Given the description of an element on the screen output the (x, y) to click on. 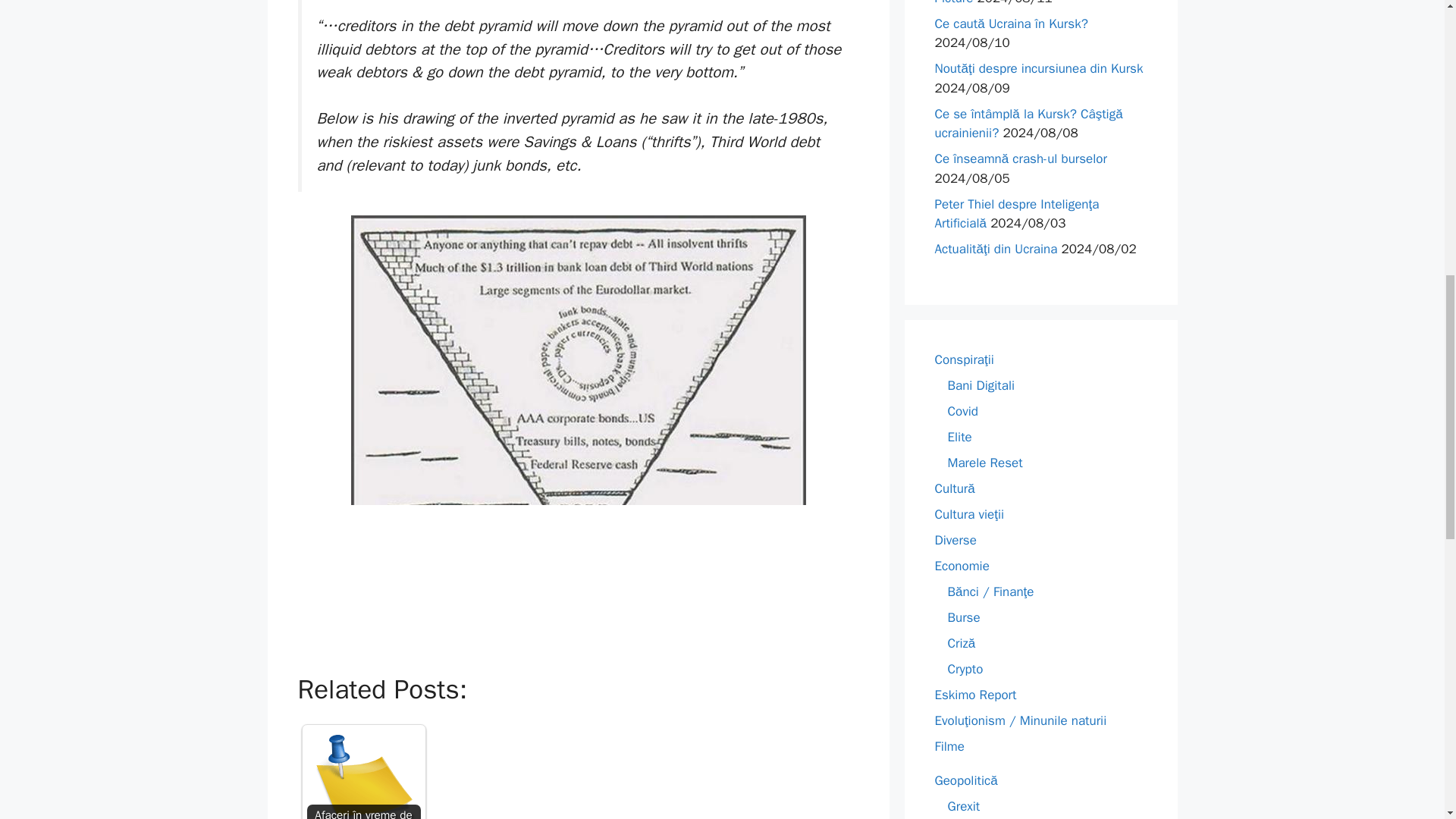
Bani Digitali (980, 385)
Covid (962, 411)
Economie (961, 565)
Elite (959, 437)
Diverse (954, 539)
Marele Reset (985, 462)
